Given the description of an element on the screen output the (x, y) to click on. 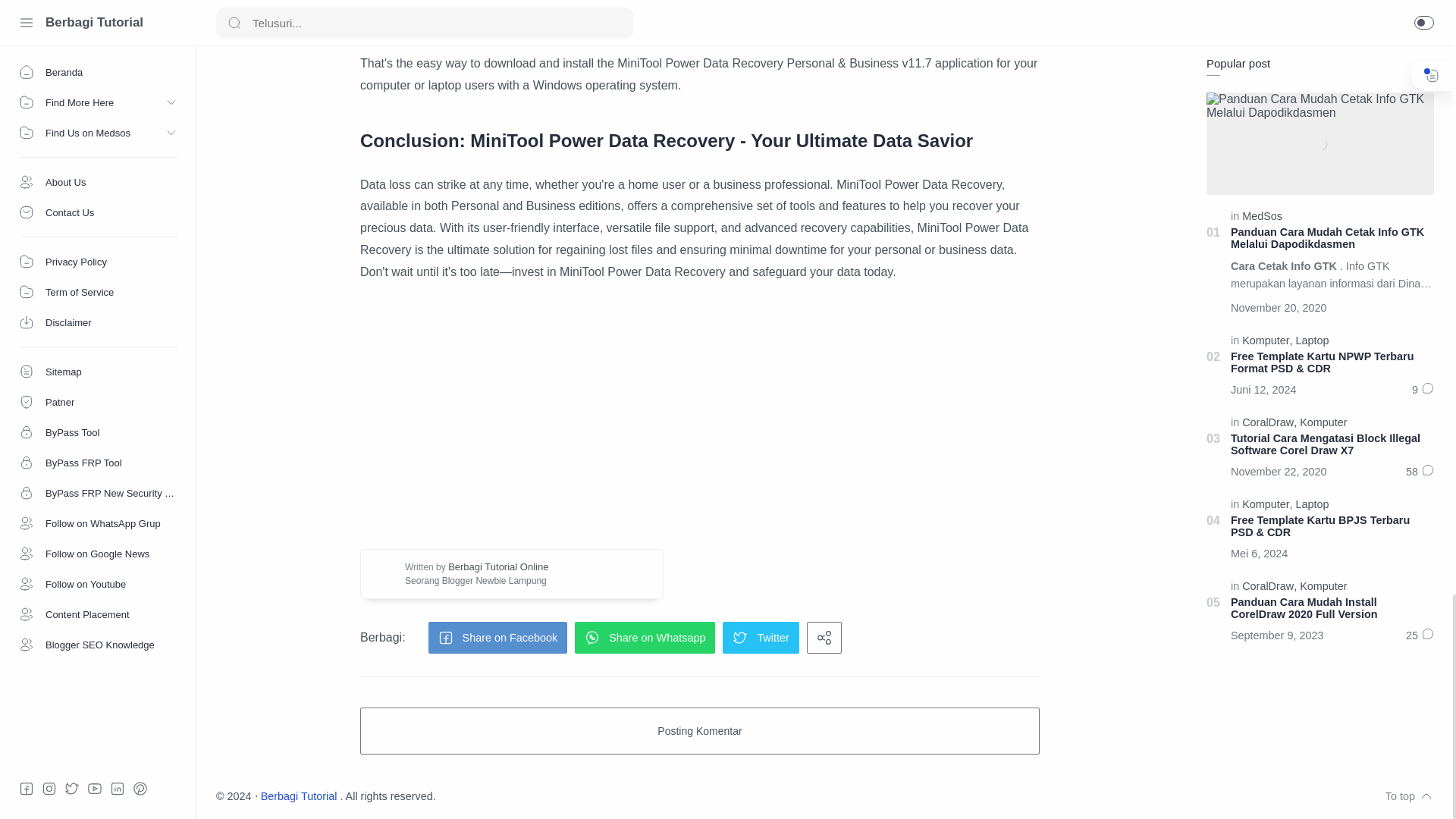
Share to Twitter (759, 637)
